Given the description of an element on the screen output the (x, y) to click on. 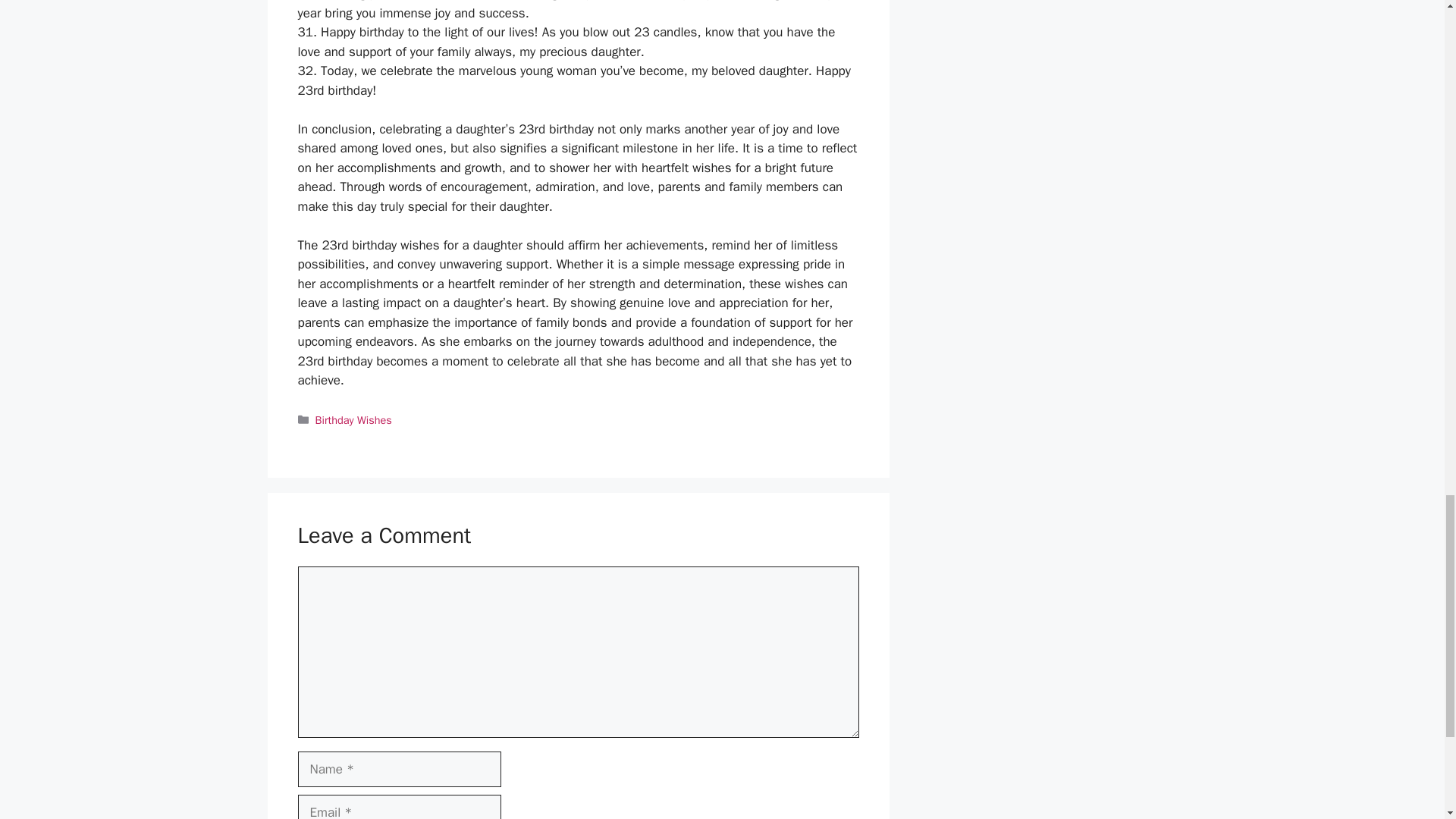
Birthday Wishes (353, 419)
